Given the description of an element on the screen output the (x, y) to click on. 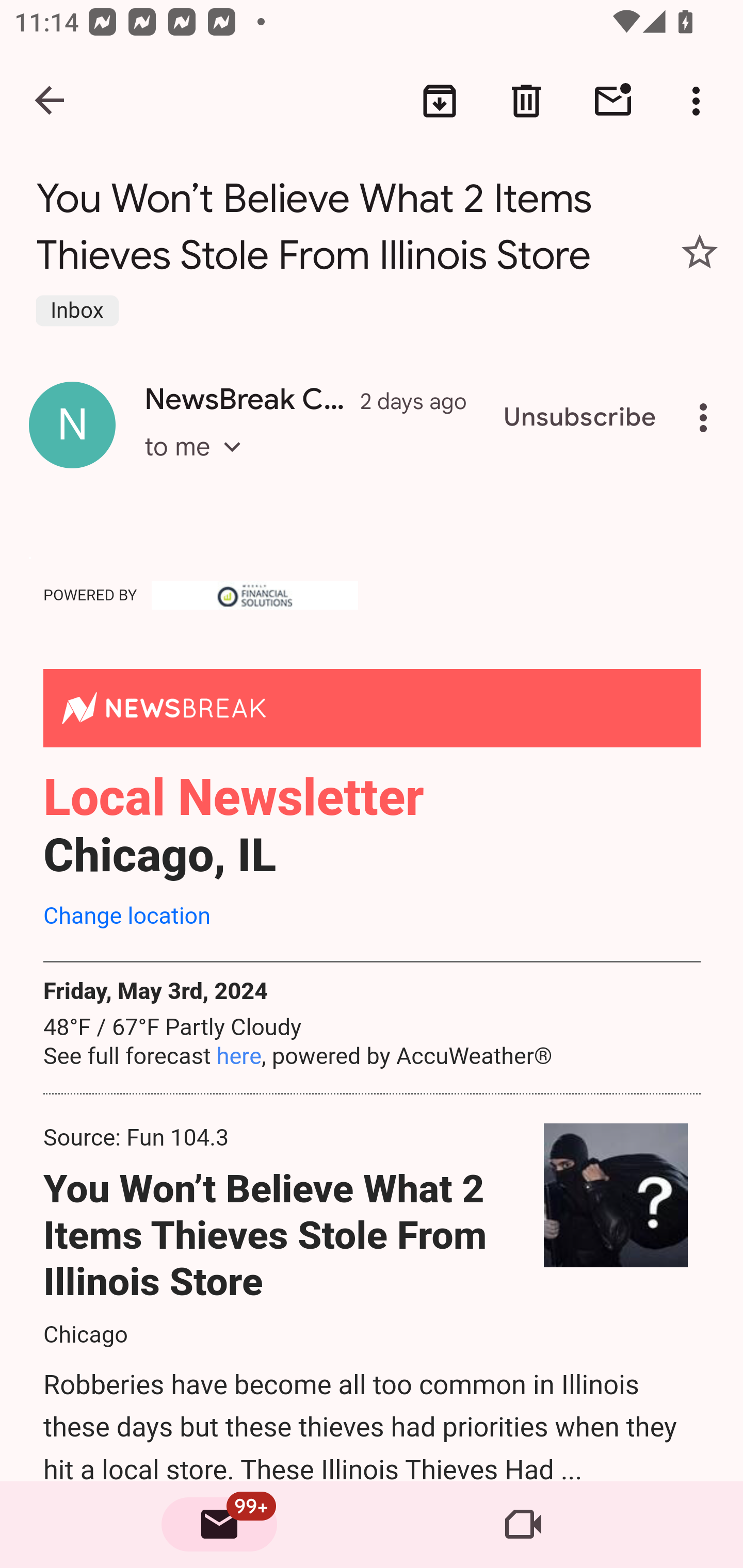
Navigate up (50, 101)
Archive (439, 101)
Delete (525, 101)
Mark unread (612, 101)
More options (699, 101)
Add star (699, 251)
Unsubscribe (579, 417)
More options (706, 417)
Show contact information for NewsBreak Chicago (71, 424)
to me (199, 464)
Meet (523, 1524)
